Given the description of an element on the screen output the (x, y) to click on. 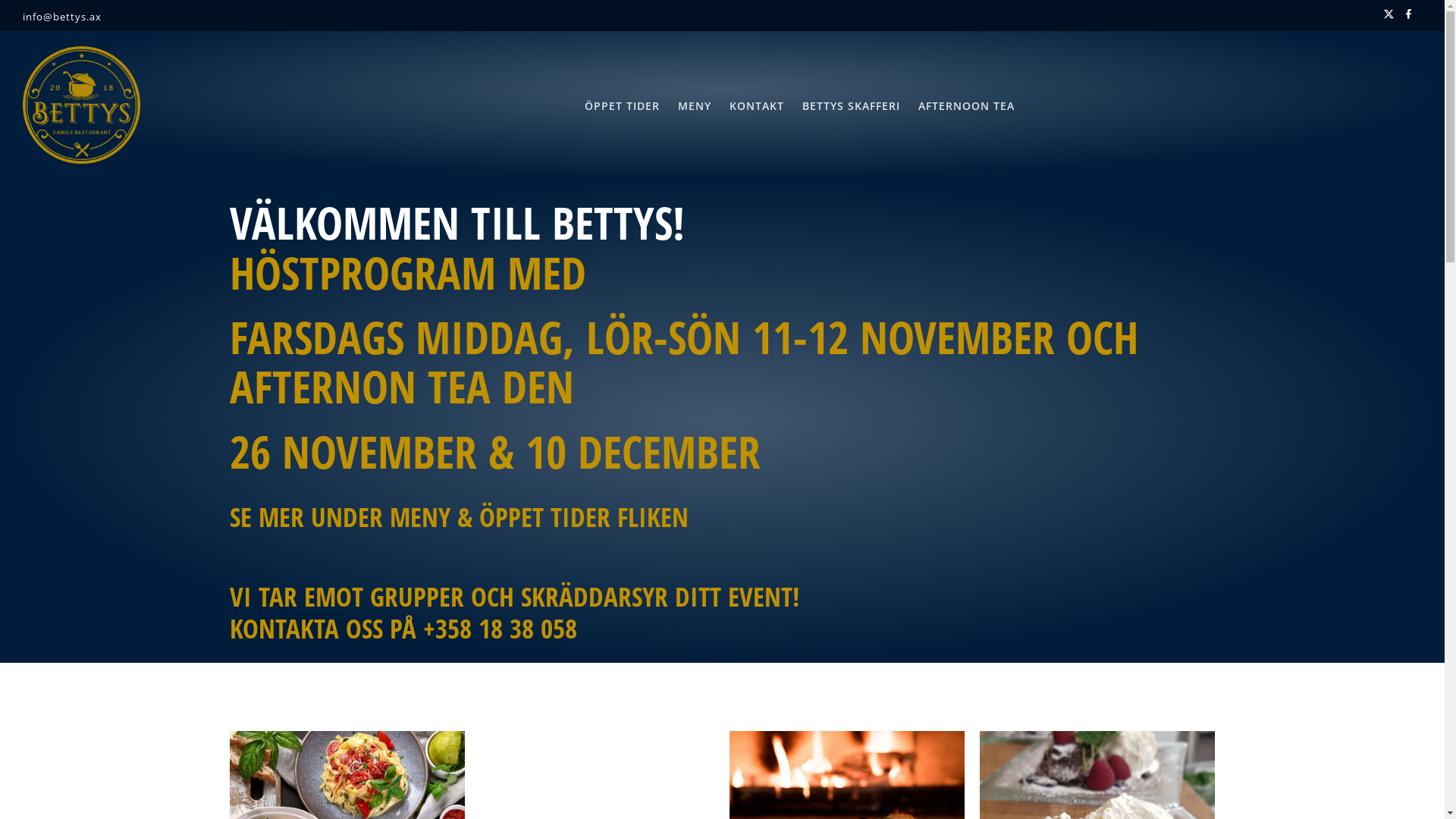
BETTYS SKAFFERI Element type: text (850, 105)
MENY Element type: text (694, 105)
KONTAKT Element type: text (756, 105)
info@bettys.ax Element type: text (61, 16)
AFTERNOON TEA Element type: text (965, 105)
